Given the description of an element on the screen output the (x, y) to click on. 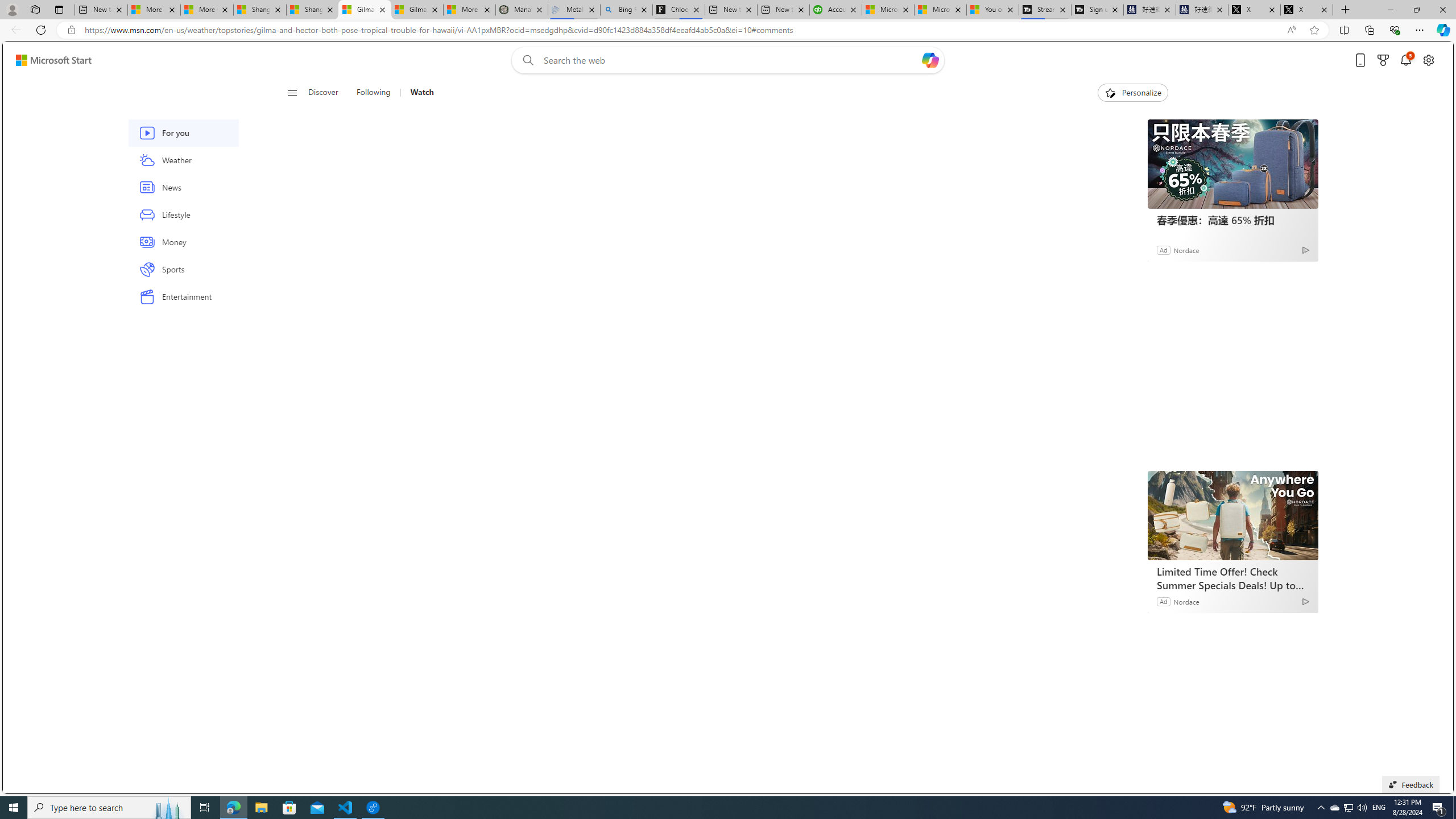
Streaming Coverage | T3 (1044, 9)
Microsoft rewards (1382, 60)
X (1306, 9)
Open settings (1427, 60)
Microsoft Start (53, 60)
Feedback (1410, 784)
